Given the description of an element on the screen output the (x, y) to click on. 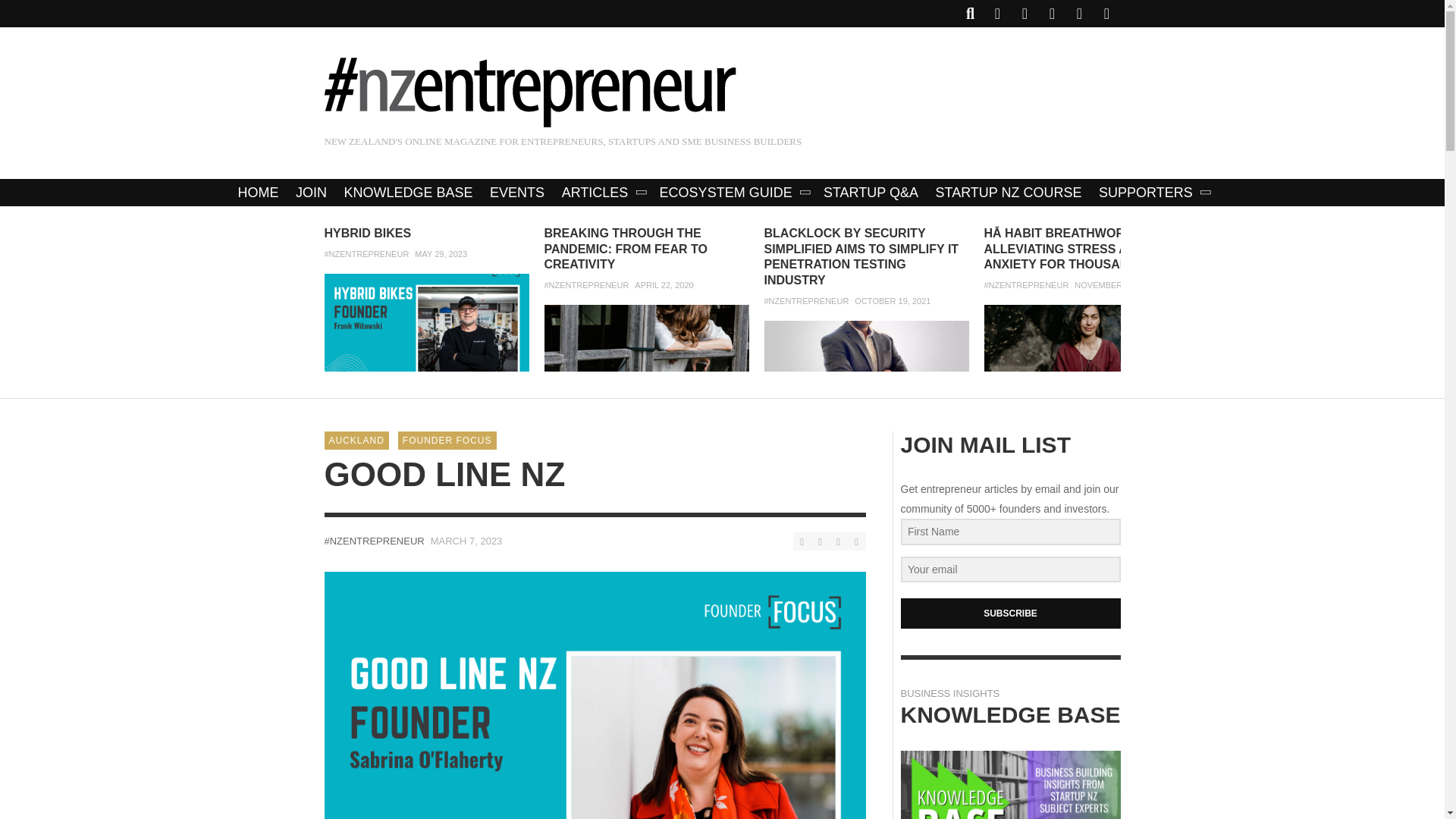
HYBRID BIKES (368, 232)
STARTUP NZ COURSE (1008, 192)
ECOSYSTEM GUIDE (731, 192)
HOME (257, 192)
EVENTS (517, 192)
ARTICLES (601, 192)
JOIN (311, 192)
BREAKING THROUGH THE PANDEMIC: FROM FEAR TO CREATIVITY (625, 248)
KNOWLEDGE BASE (407, 192)
